Given the description of an element on the screen output the (x, y) to click on. 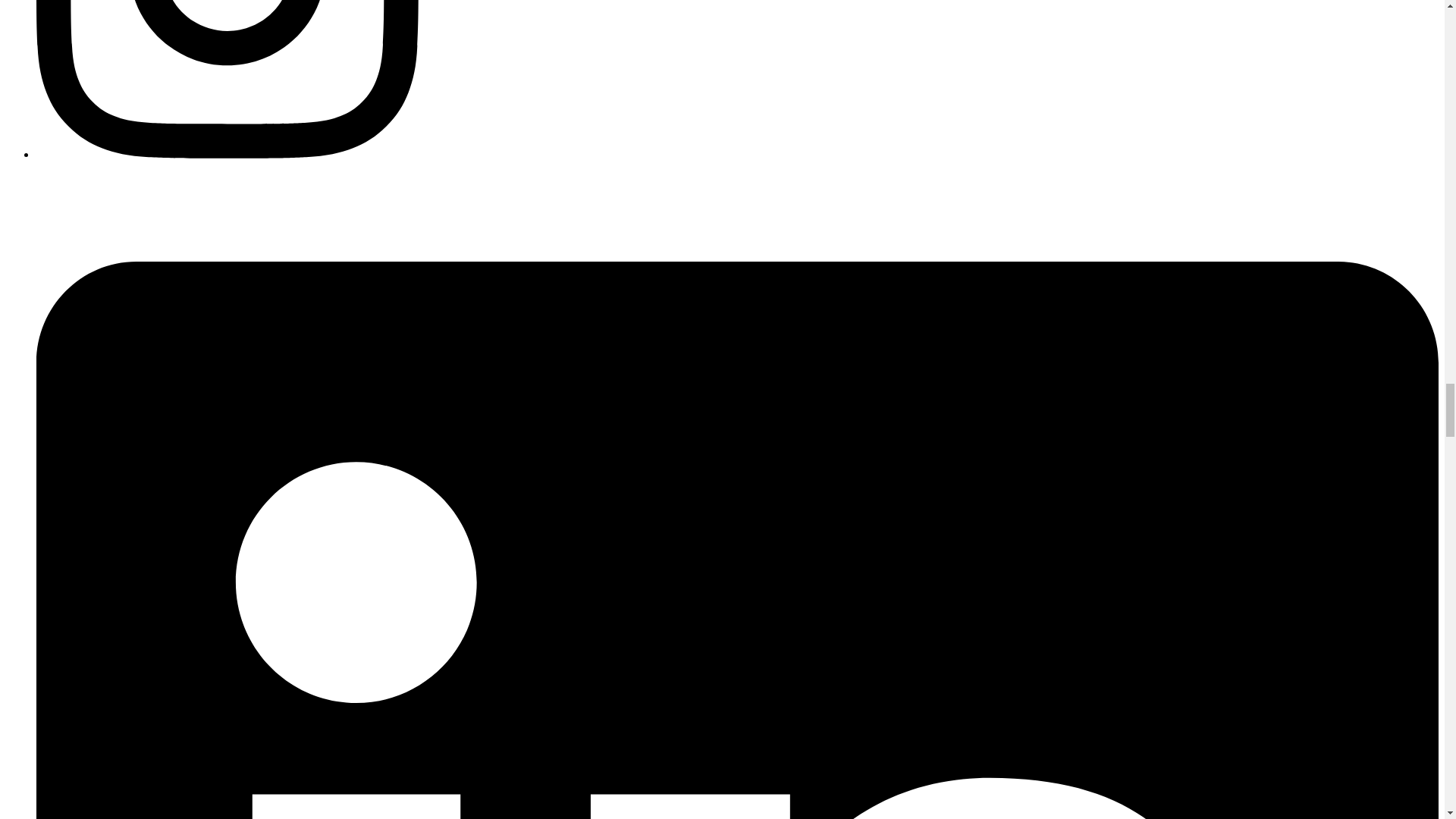
Instagram (227, 154)
